Given the description of an element on the screen output the (x, y) to click on. 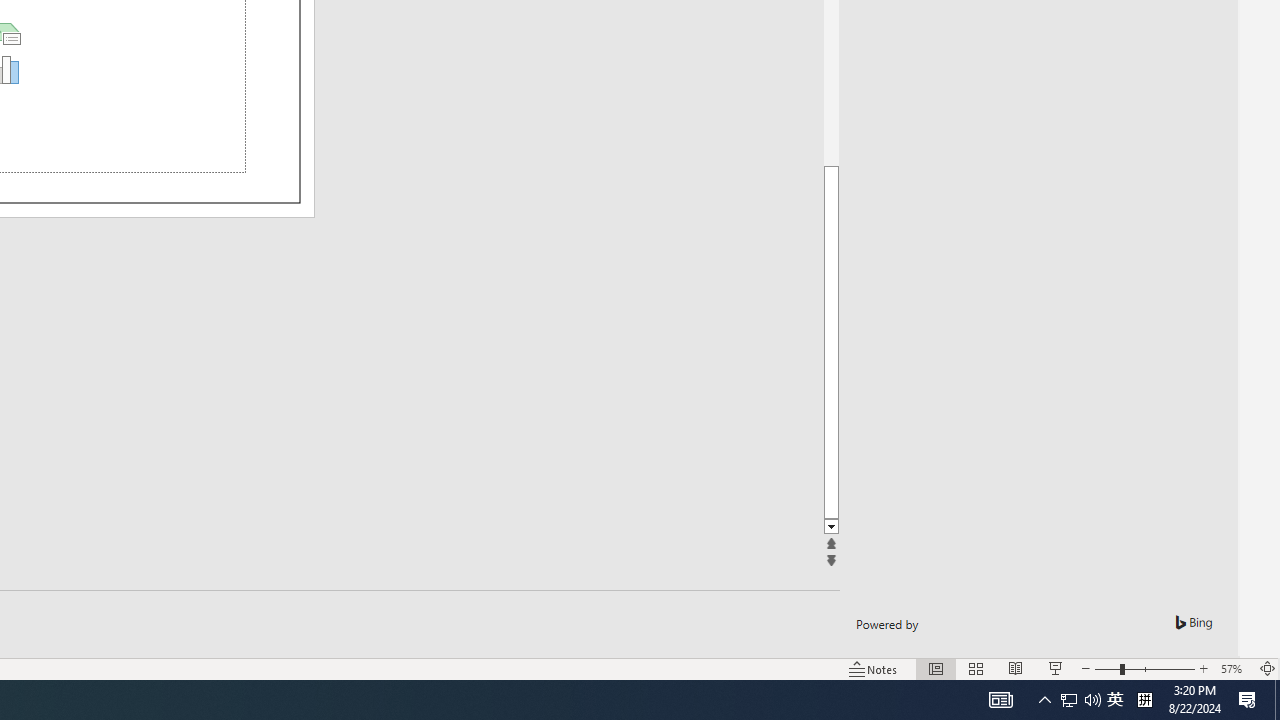
Zoom 57% (1234, 668)
